Given the description of an element on the screen output the (x, y) to click on. 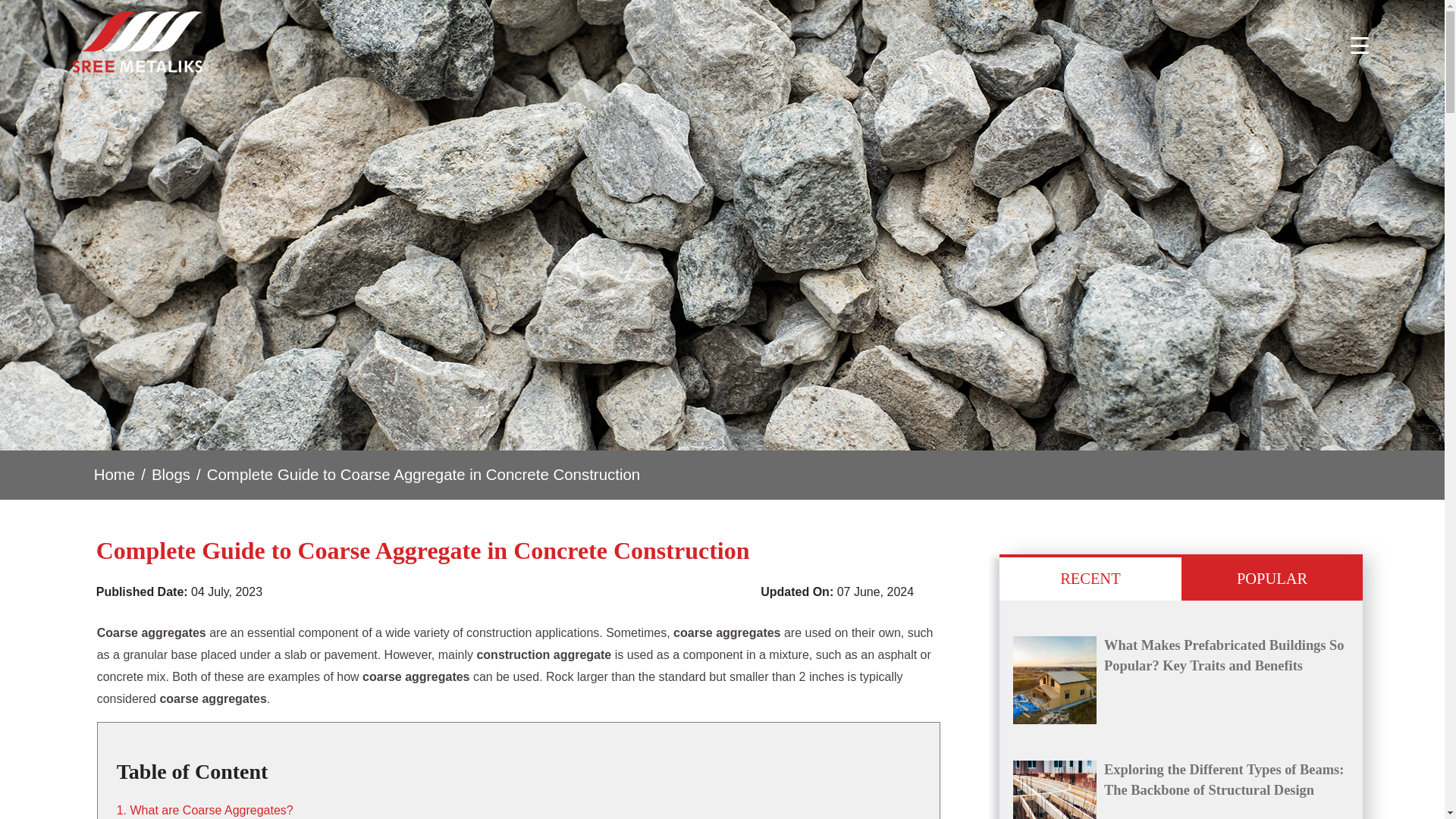
POPULAR (1271, 577)
RECENT (1089, 577)
1. What are Coarse Aggregates? (205, 809)
Home (114, 474)
Blogs (170, 474)
